Given the description of an element on the screen output the (x, y) to click on. 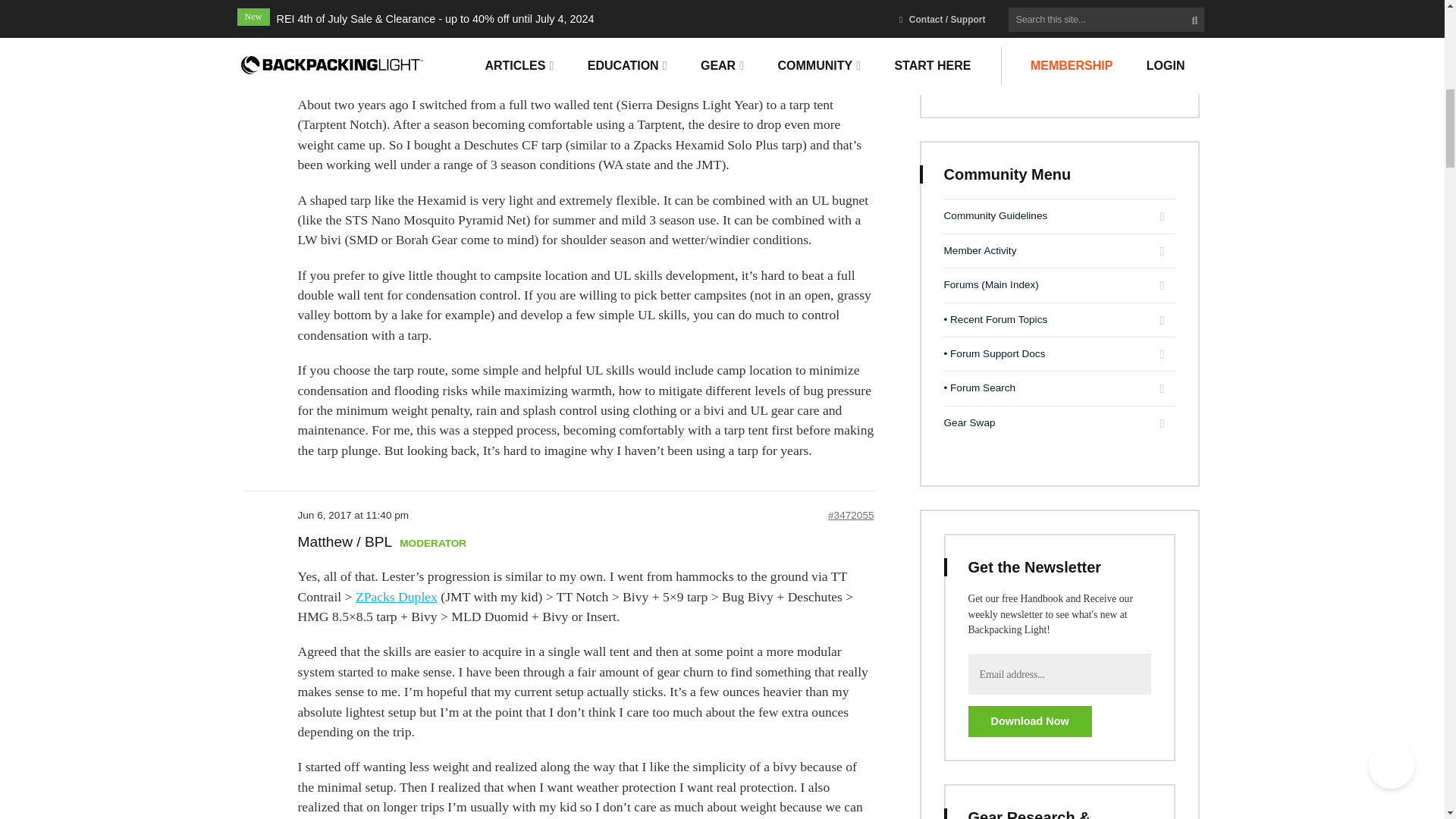
View Lester Moore's profile (339, 69)
Download Now (1029, 721)
